Given the description of an element on the screen output the (x, y) to click on. 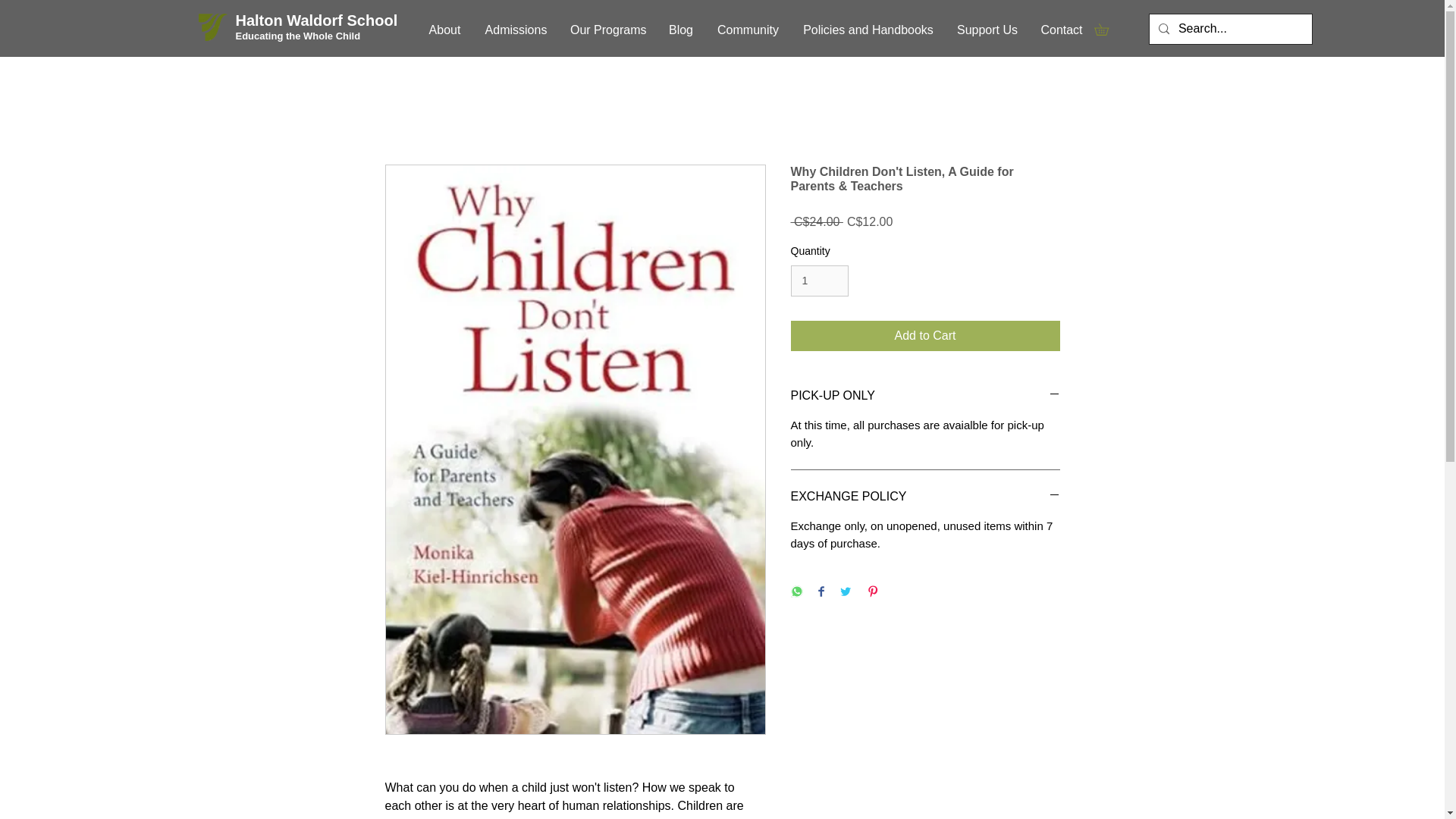
Blog (680, 29)
1 (818, 280)
Support Us (986, 29)
Halton Waldorf School (318, 20)
EXCHANGE POLICY (924, 496)
Policies and Handbooks (867, 29)
PICK-UP ONLY (924, 395)
About (444, 29)
Contact (1061, 29)
Admissions (516, 29)
Add to Cart (924, 336)
